Given the description of an element on the screen output the (x, y) to click on. 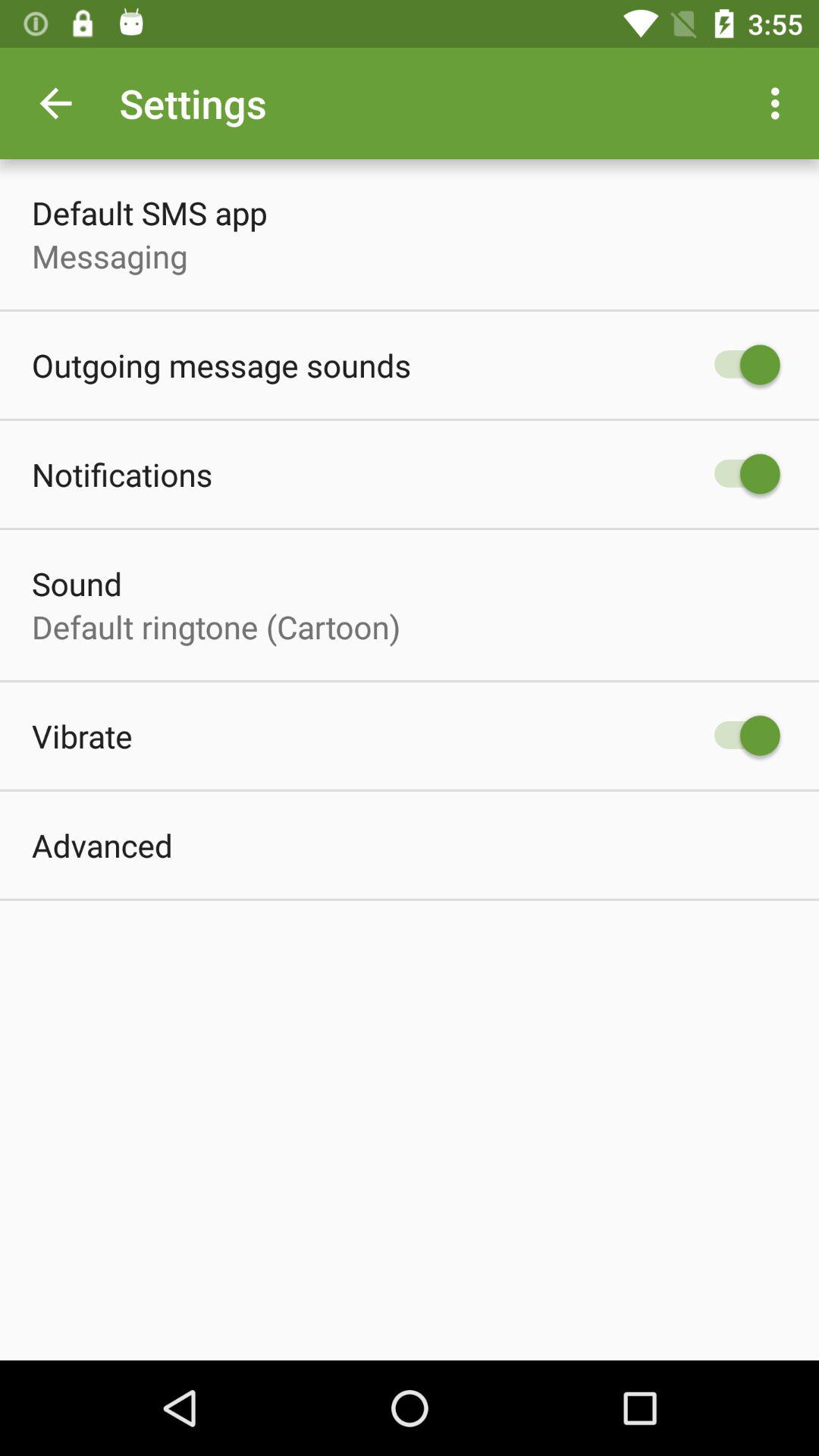
turn off the item above the default sms app (55, 103)
